Given the description of an element on the screen output the (x, y) to click on. 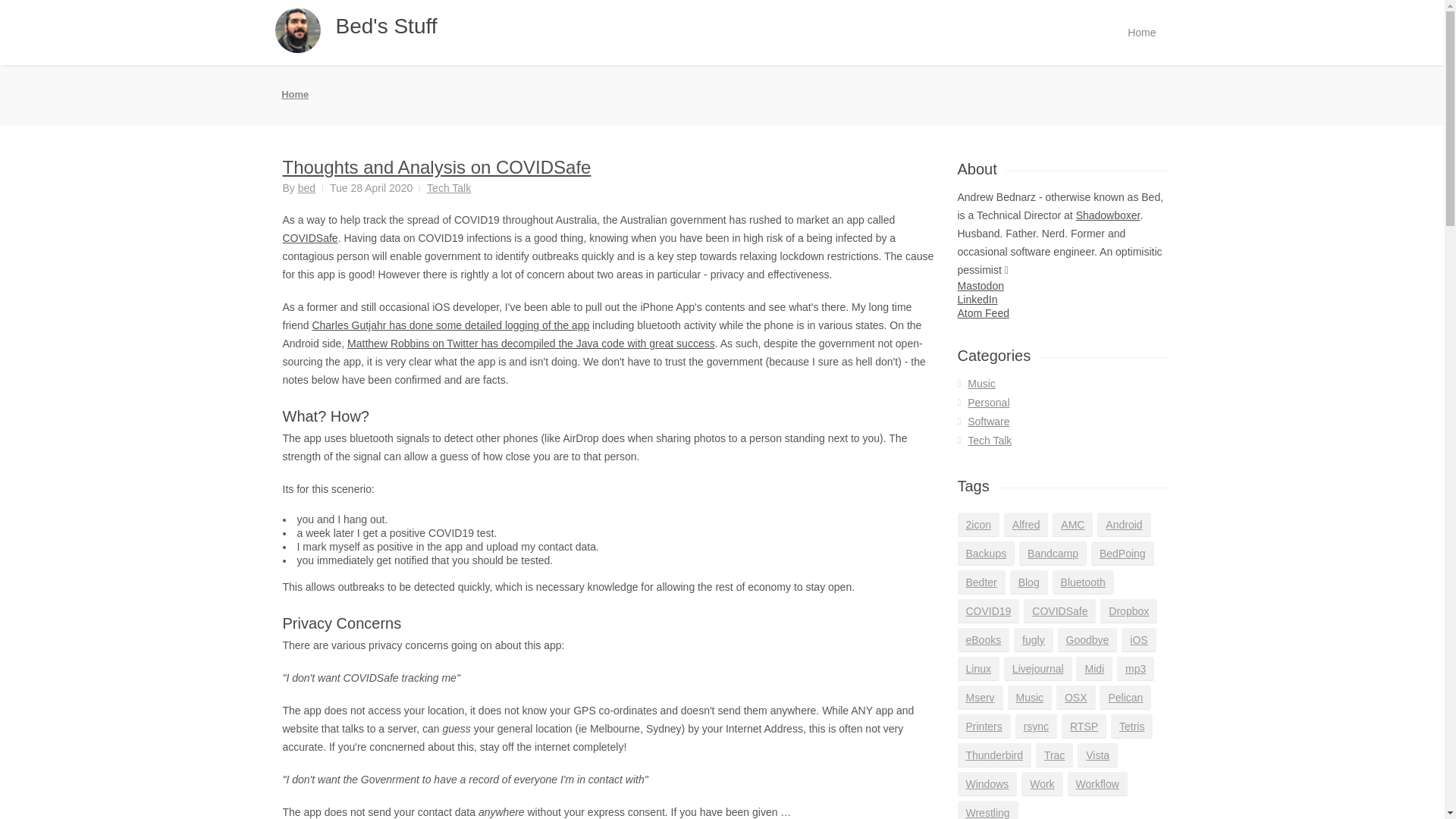
Home (1141, 32)
Tech Talk (448, 187)
Home (294, 93)
bed (306, 187)
Atom Feed (982, 313)
Mastodon (979, 285)
Charles Gutjahr has done some detailed logging of the app (450, 325)
Thoughts and Analysis on COVIDSafe (436, 167)
Shadowboxer (1107, 215)
LinkedIn (976, 299)
Permalink to Thoughts and Analysis on COVIDSafe (436, 167)
COVIDSafe (309, 237)
